Given the description of an element on the screen output the (x, y) to click on. 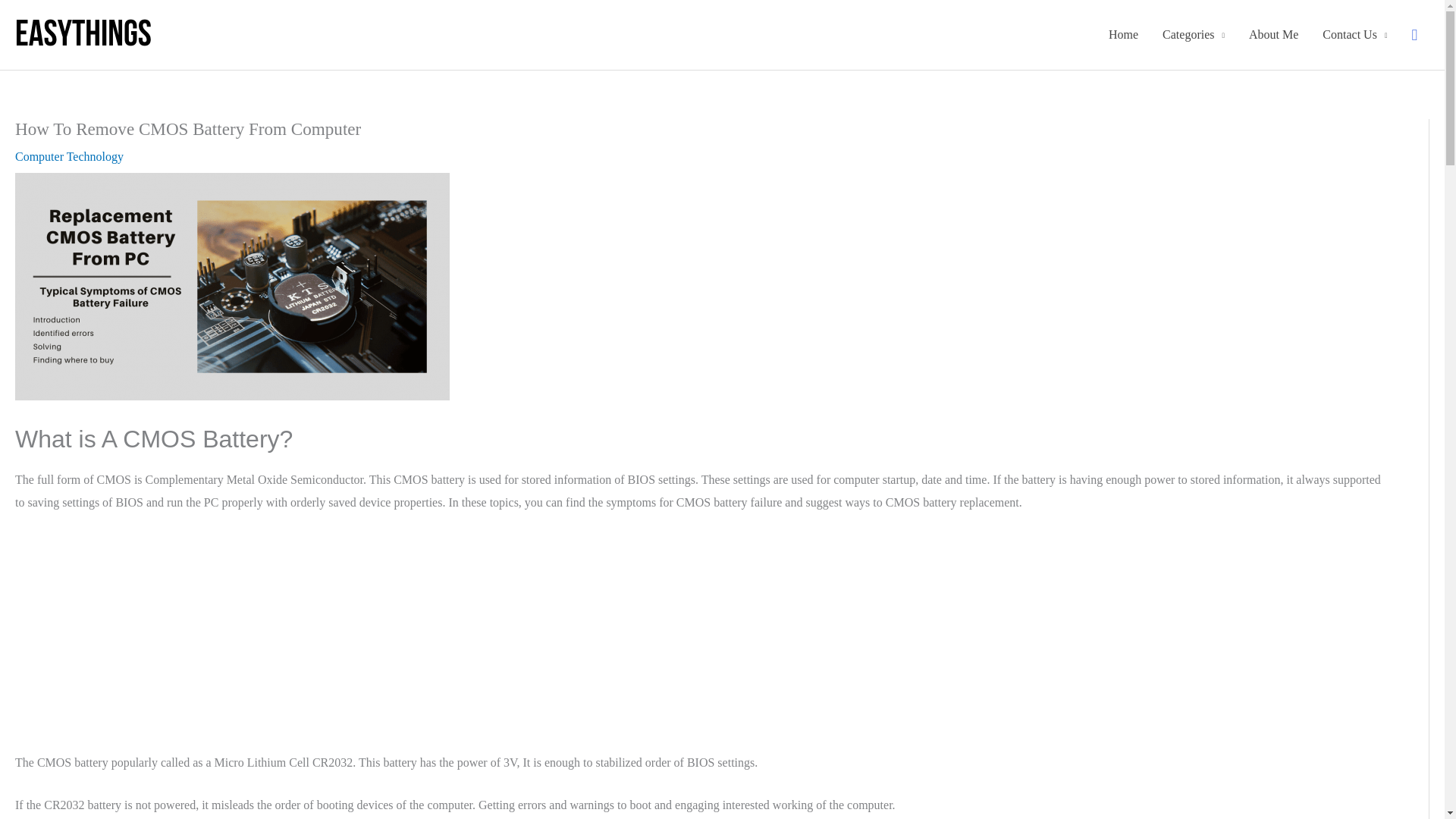
About Me (1273, 34)
Advertisement (698, 639)
Computer Technology (68, 155)
Home (1123, 34)
Contact Us (1354, 34)
Categories (1193, 34)
